Given the description of an element on the screen output the (x, y) to click on. 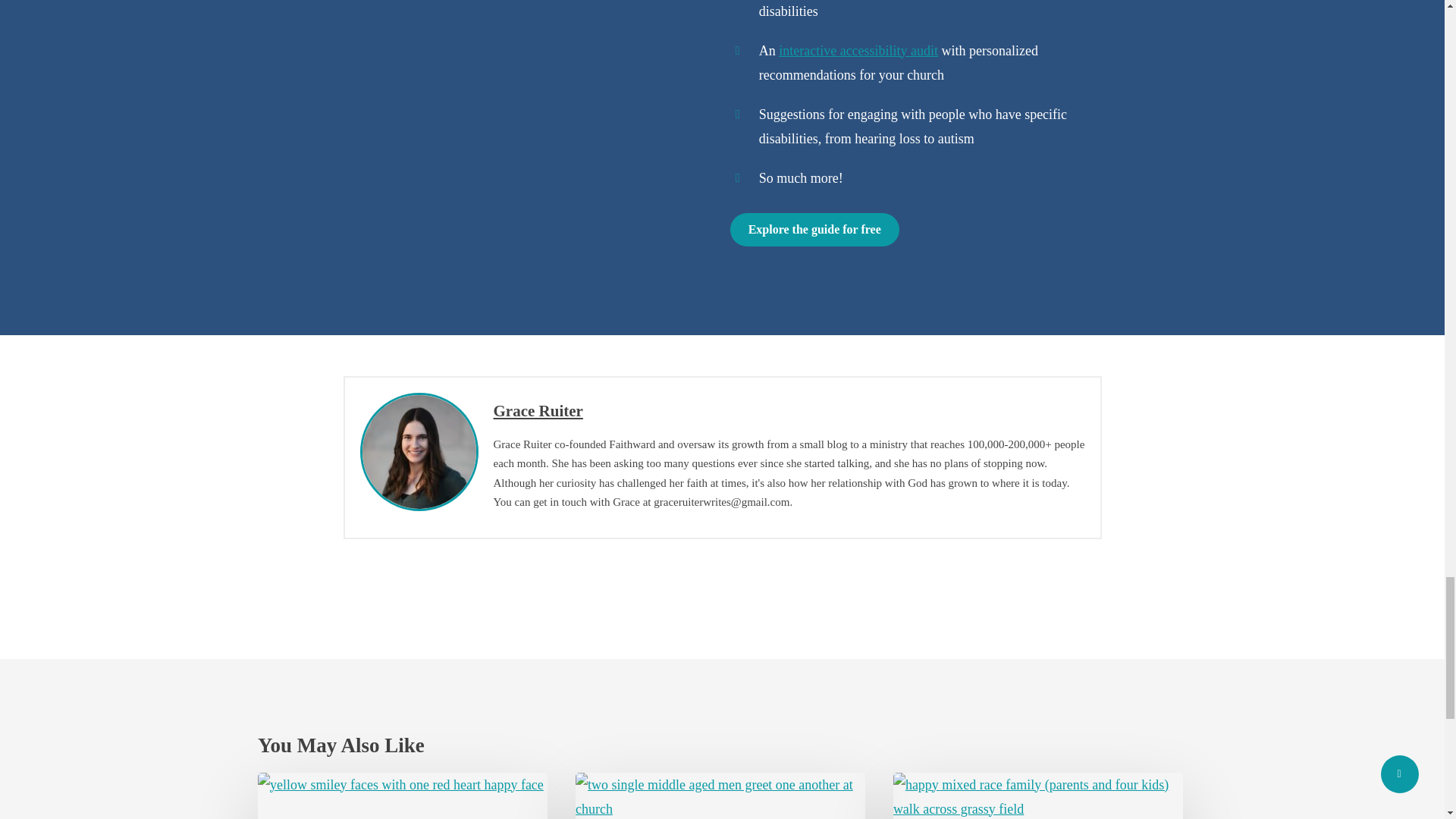
interactive accessibility audit (857, 50)
Explore the guide for free (814, 229)
Everybody Belongs, Serving Together Guide (528, 130)
Grace Ruiter (537, 411)
